Given the description of an element on the screen output the (x, y) to click on. 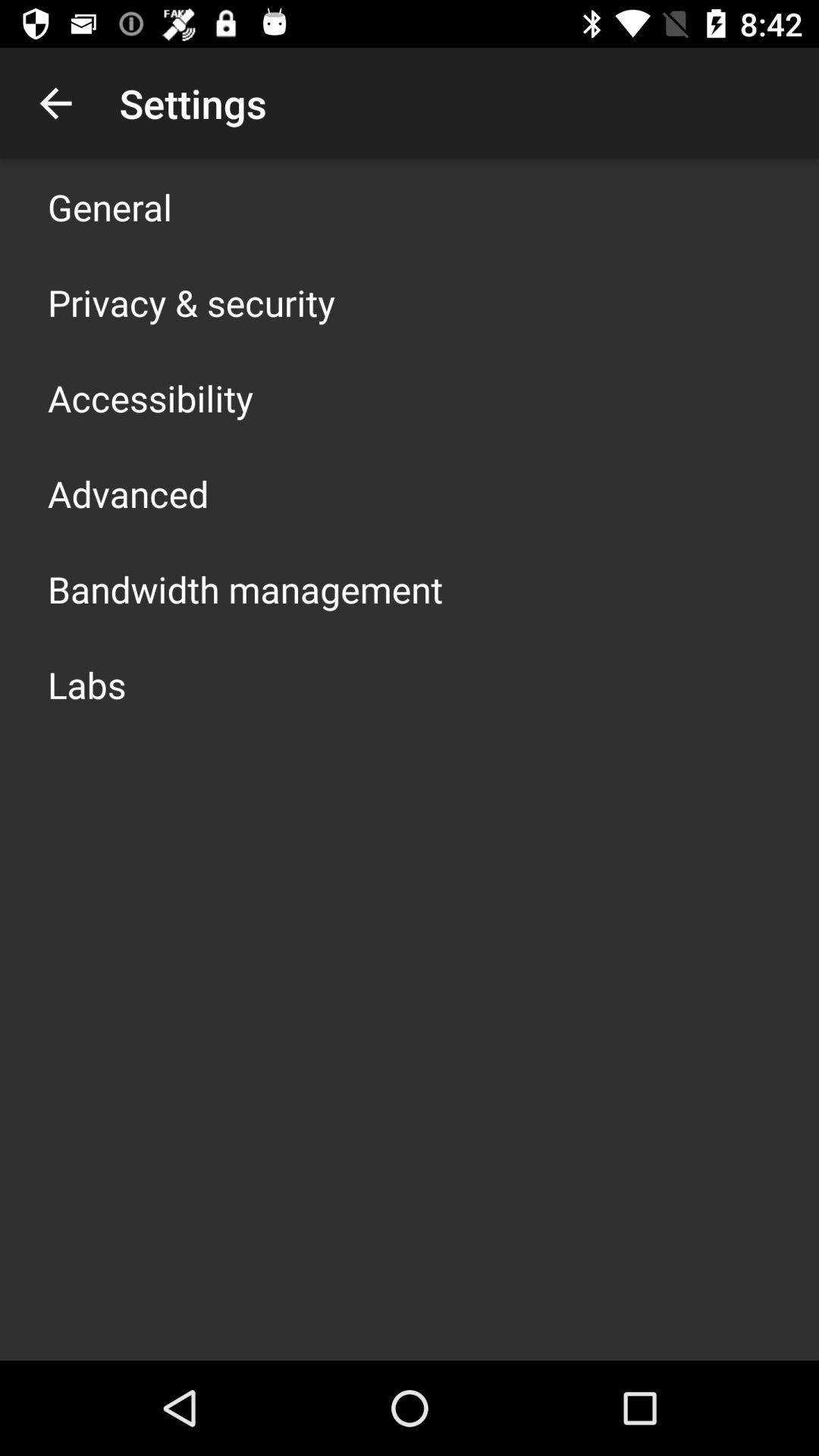
press the app below the bandwidth management icon (86, 684)
